Given the description of an element on the screen output the (x, y) to click on. 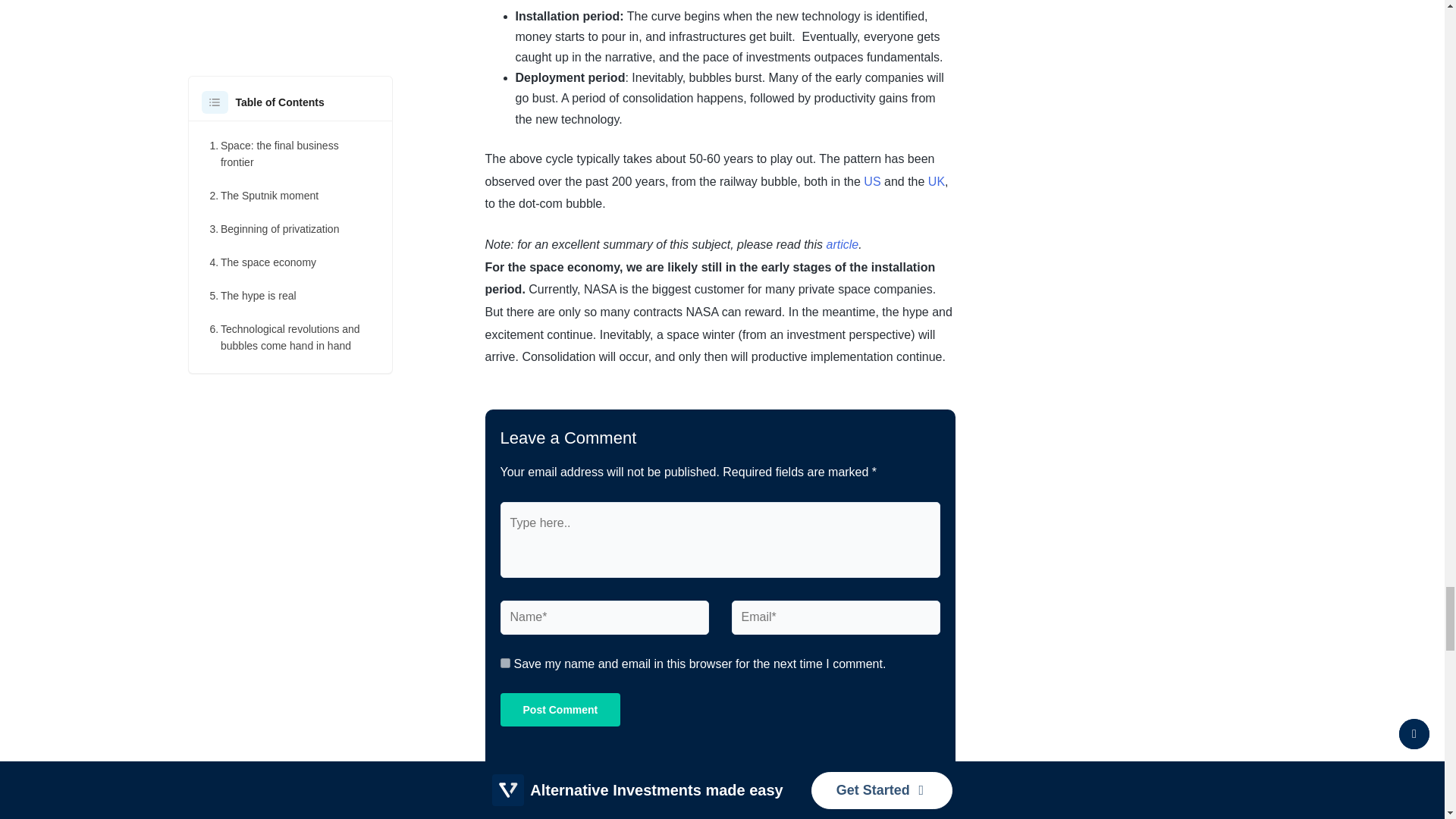
yes (505, 663)
Post Comment (560, 709)
